Given the description of an element on the screen output the (x, y) to click on. 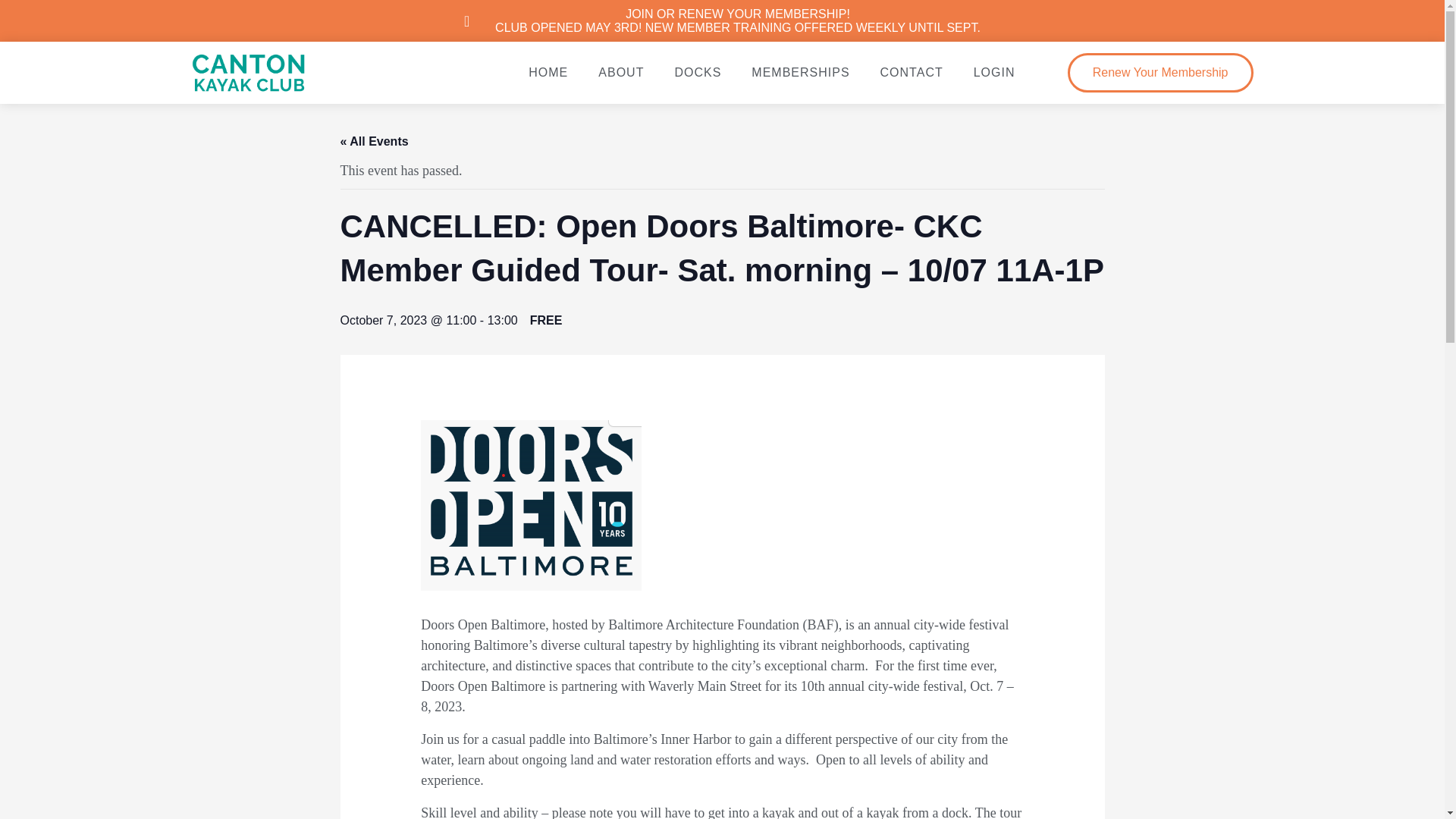
ABOUT (621, 72)
HOME (548, 72)
MEMBERSHIPS (800, 72)
LOGIN (994, 72)
CONTACT (911, 72)
DOCKS (697, 72)
